Given the description of an element on the screen output the (x, y) to click on. 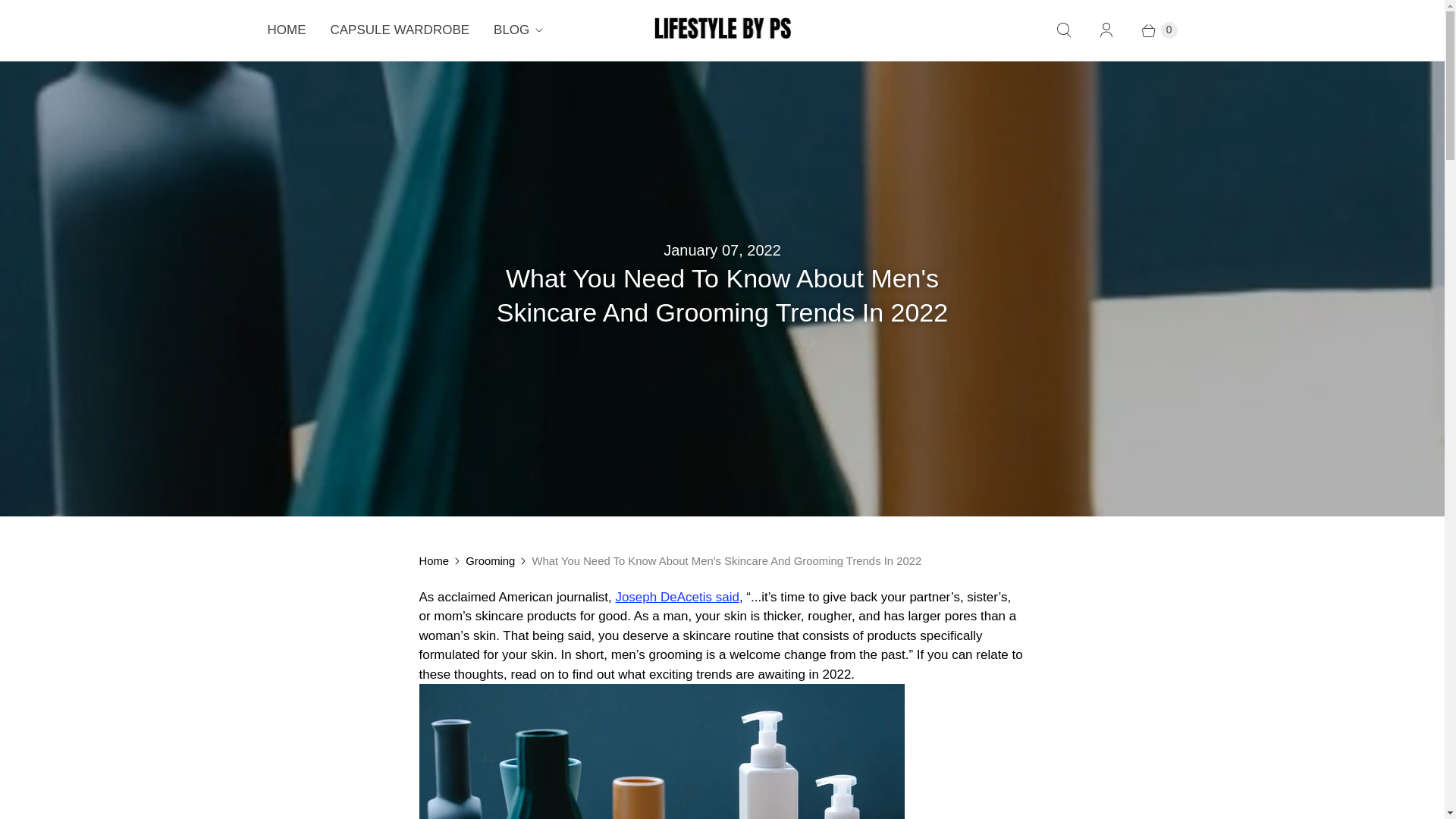
Home (433, 560)
Joseph DeAcetis said (676, 596)
HOME (285, 30)
Grooming (490, 560)
CAPSULE WARDROBE (399, 30)
0 (1151, 30)
